Given the description of an element on the screen output the (x, y) to click on. 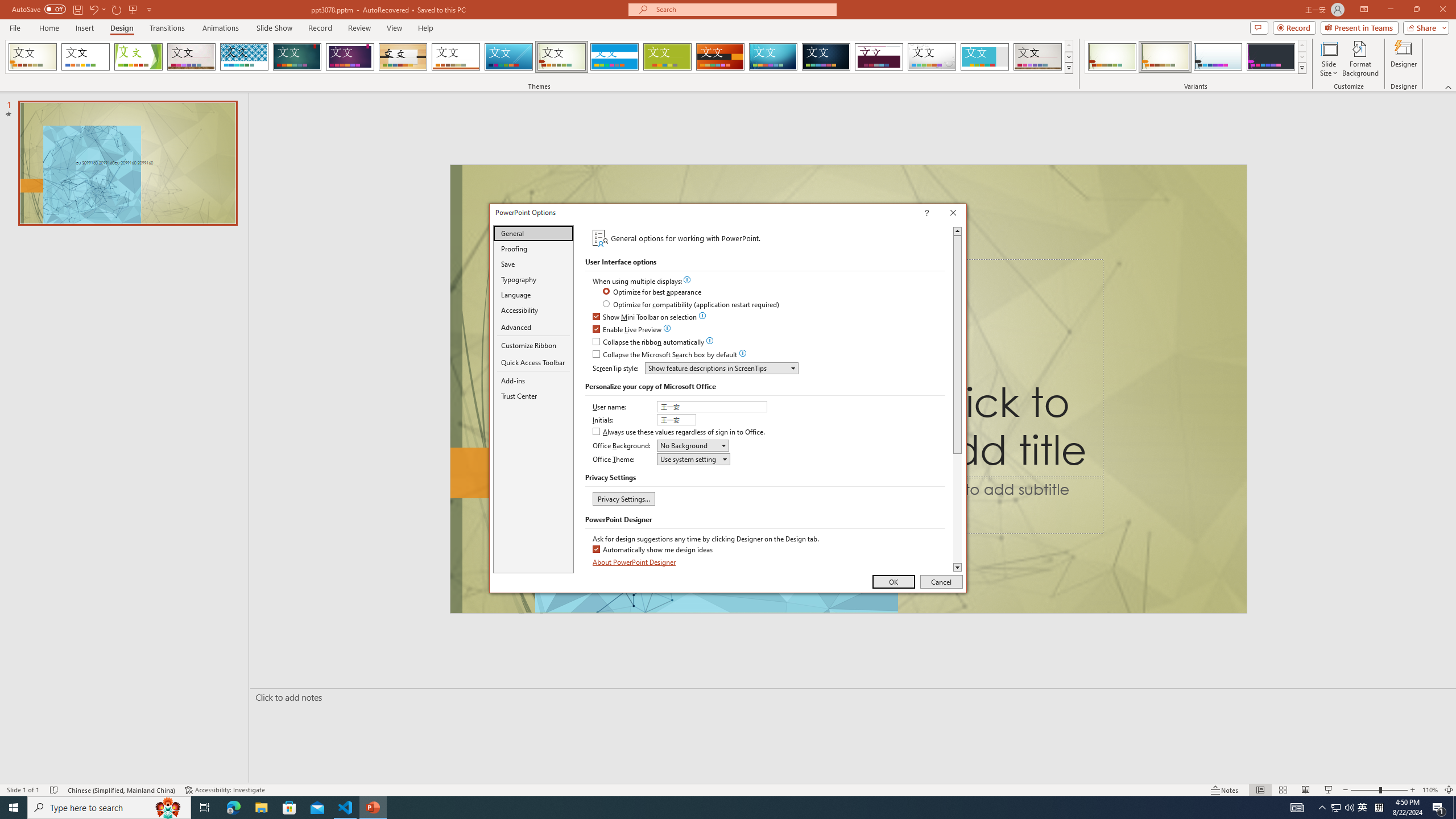
Start (13, 807)
ScreenTip style (721, 367)
Search highlights icon opens search home window (167, 807)
Collapse the Microsoft Search box by default (665, 354)
Class: NetUIScrollBar (957, 399)
